Given the description of an element on the screen output the (x, y) to click on. 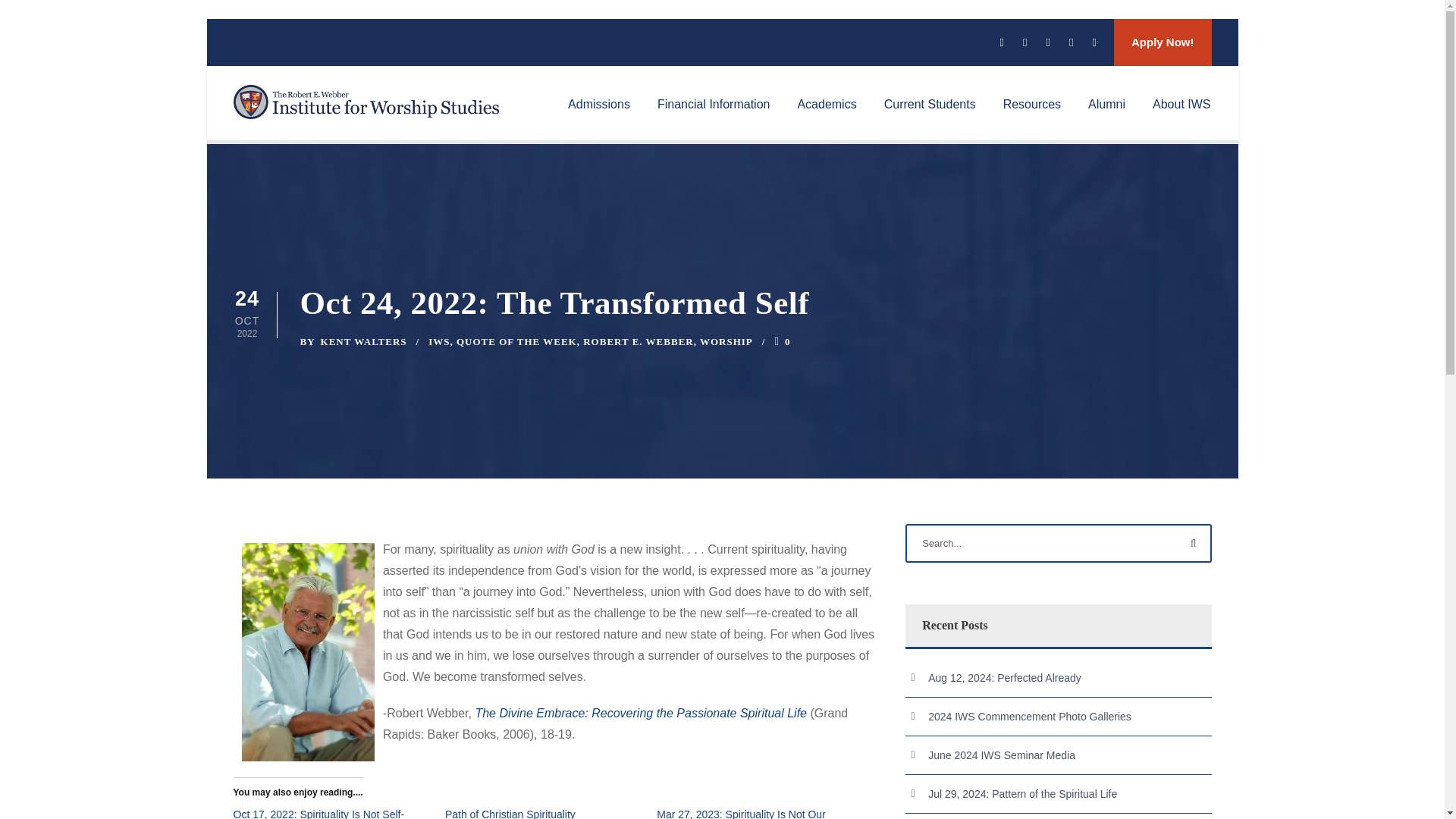
Oct 17, 2022: Spirituality Is Not Self-Generated (318, 813)
Mar 27, 2023: Spirituality Is Not Our Work (740, 813)
Posts by Kent Walters (363, 341)
Path of Christian Spirituality (510, 813)
